Given the description of an element on the screen output the (x, y) to click on. 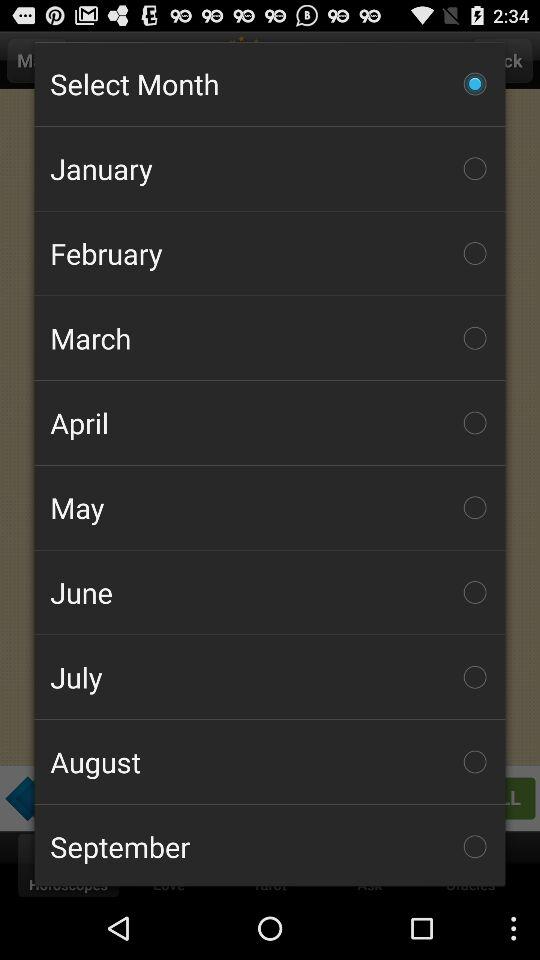
open the icon above the april (269, 338)
